Given the description of an element on the screen output the (x, y) to click on. 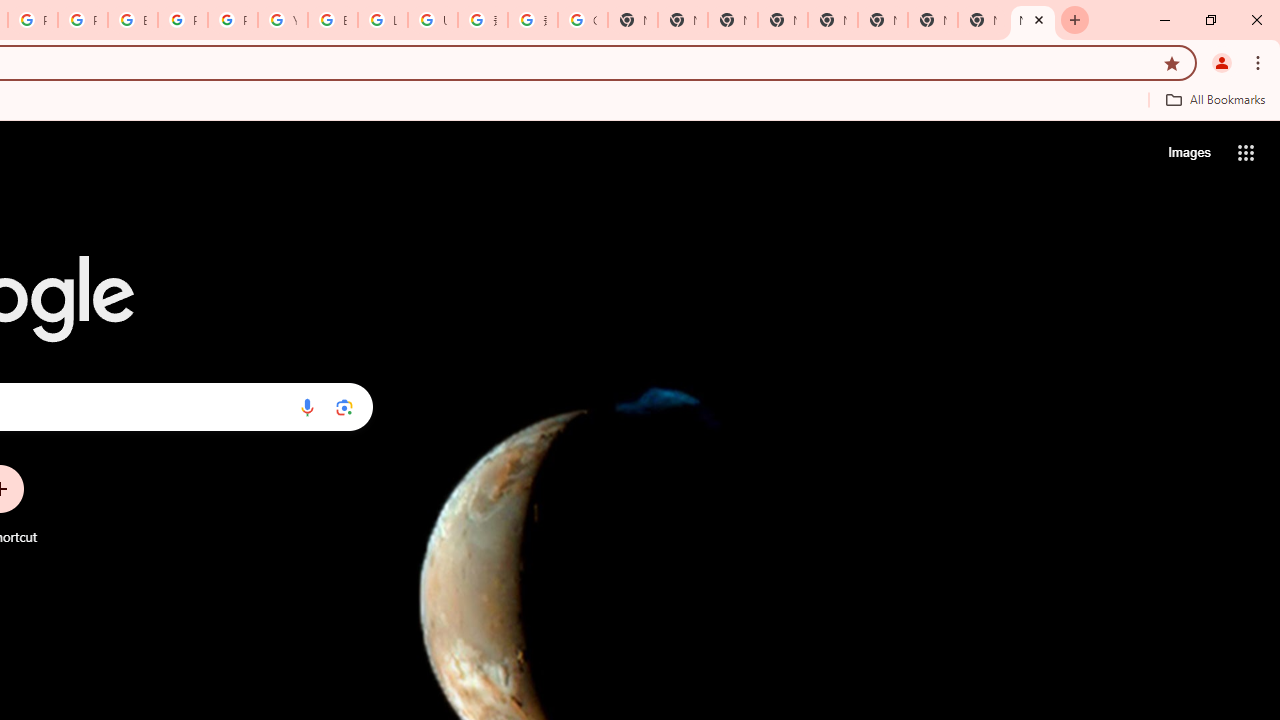
Browse Chrome as a guest - Computer - Google Chrome Help (333, 20)
YouTube (283, 20)
Search by voice (307, 407)
Minimize (1165, 20)
Google apps (1245, 152)
Search by image (344, 407)
New Tab (932, 20)
Chrome (1260, 62)
Google Images (582, 20)
Search for Images  (1188, 152)
